Given the description of an element on the screen output the (x, y) to click on. 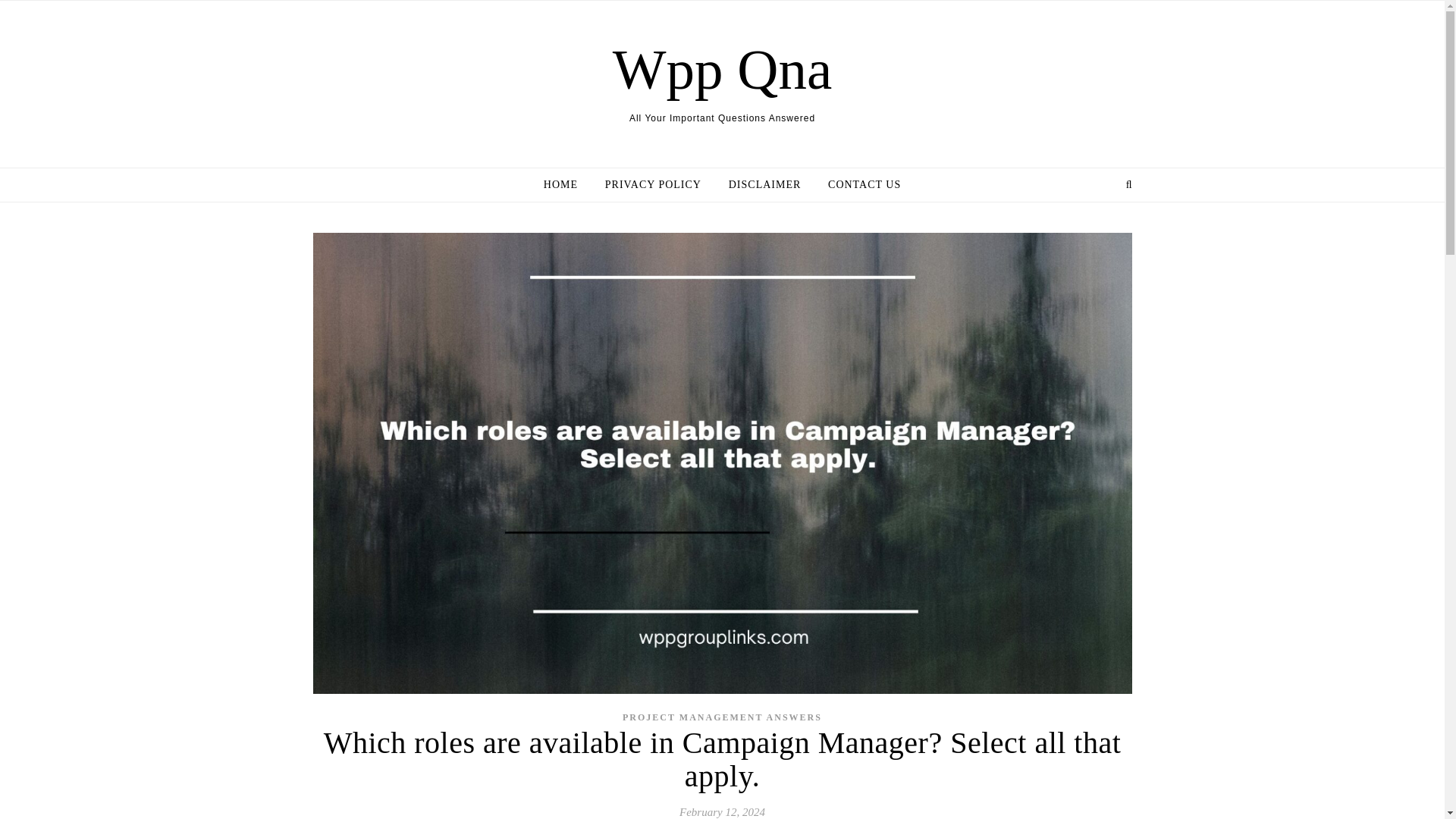
Wpp Qna (722, 68)
DISCLAIMER (764, 184)
PRIVACY POLICY (652, 184)
HOME (566, 184)
CONTACT US (858, 184)
PROJECT MANAGEMENT ANSWERS (722, 716)
